Given the description of an element on the screen output the (x, y) to click on. 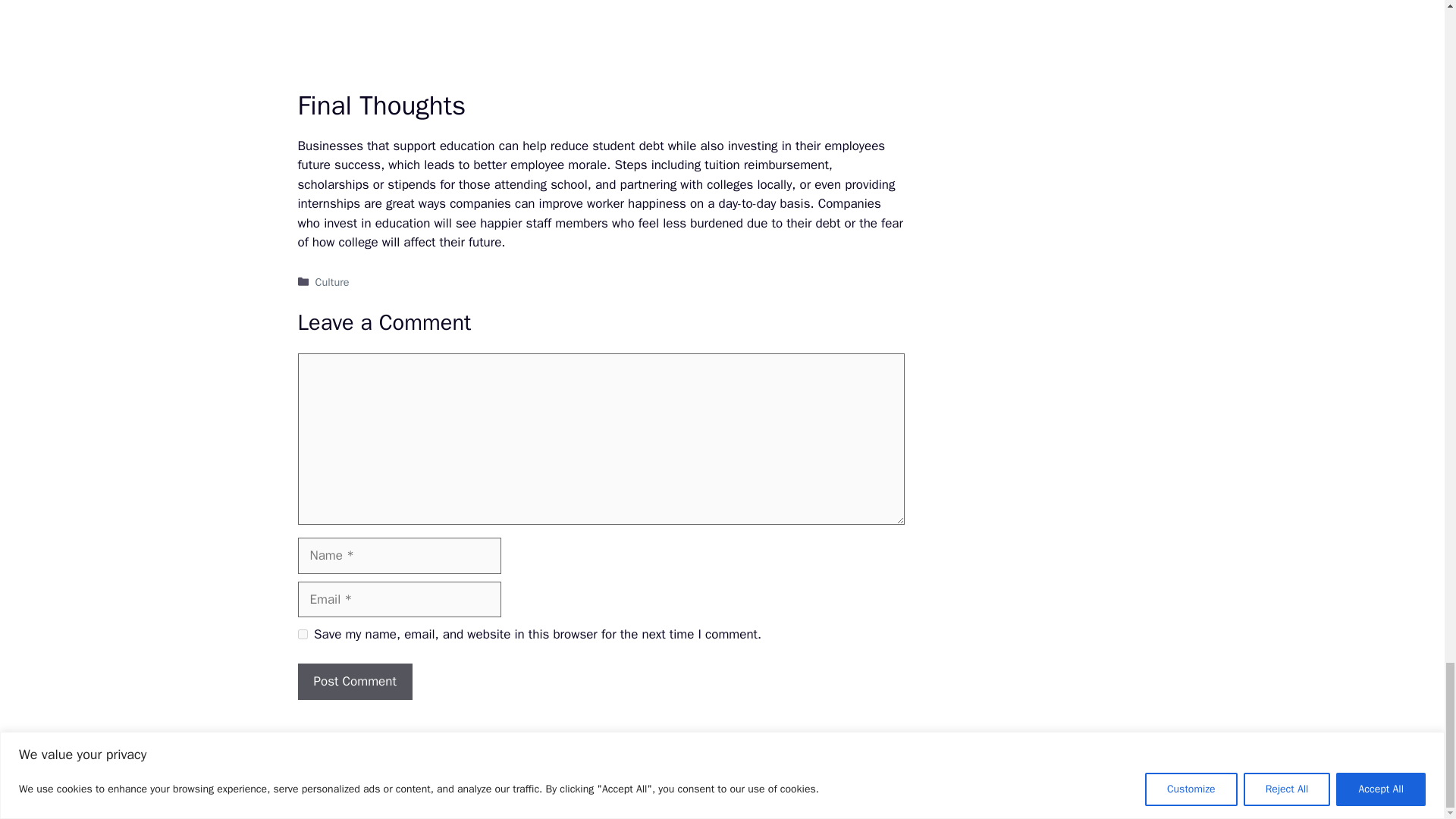
yes (302, 634)
Post Comment (354, 681)
